Given the description of an element on the screen output the (x, y) to click on. 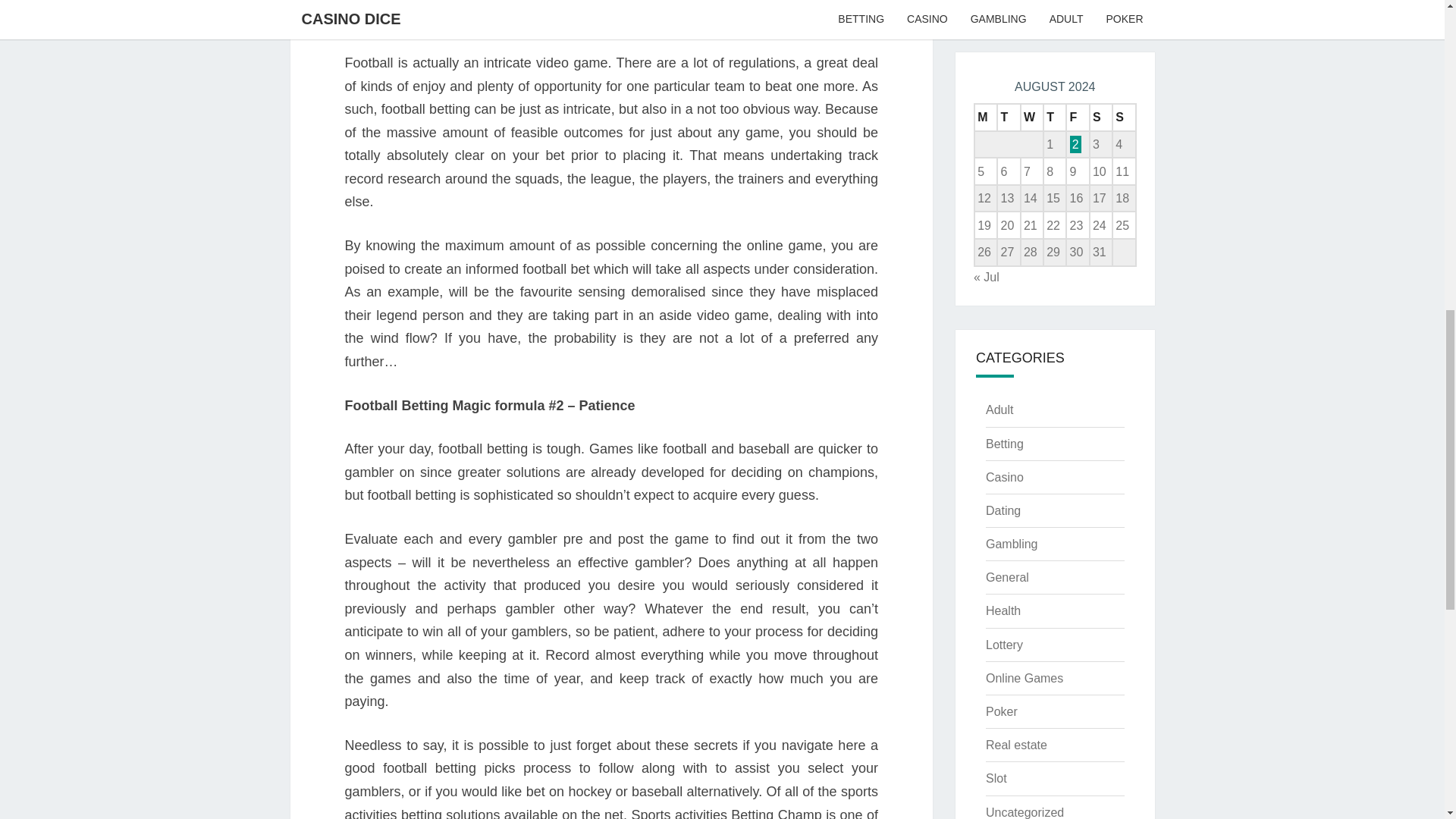
General (1007, 576)
Betting (1004, 443)
Adult (999, 409)
Dating (1002, 510)
Gambling (1010, 543)
Slot (996, 778)
Uncategorized (1024, 812)
Online Games (1023, 677)
Lottery (1004, 644)
Real estate (1015, 744)
Poker (1001, 711)
Casino (1004, 477)
Health (1002, 610)
